Given the description of an element on the screen output the (x, y) to click on. 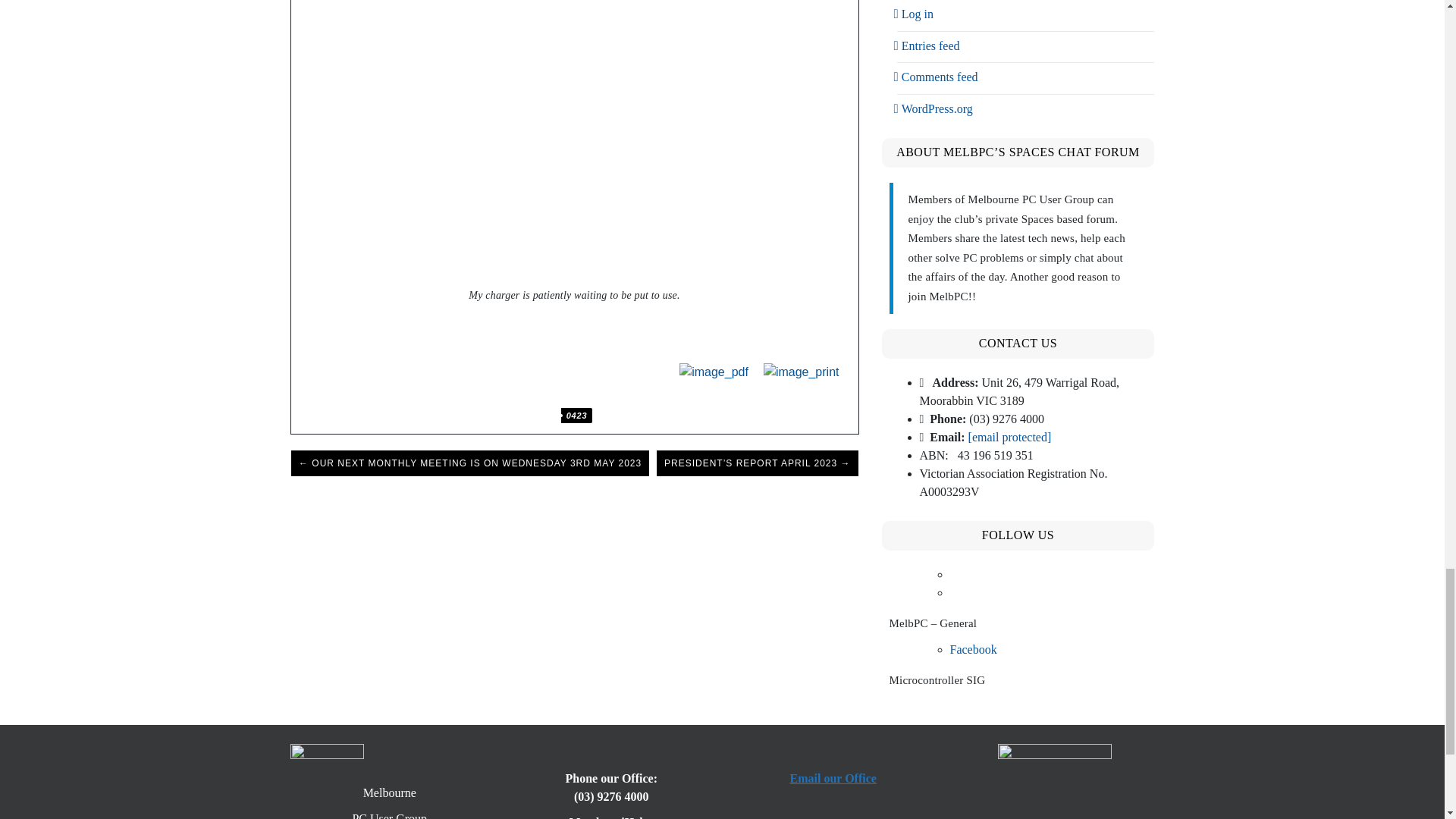
Print Content (801, 371)
View PDF (713, 371)
0423 (576, 415)
